Given the description of an element on the screen output the (x, y) to click on. 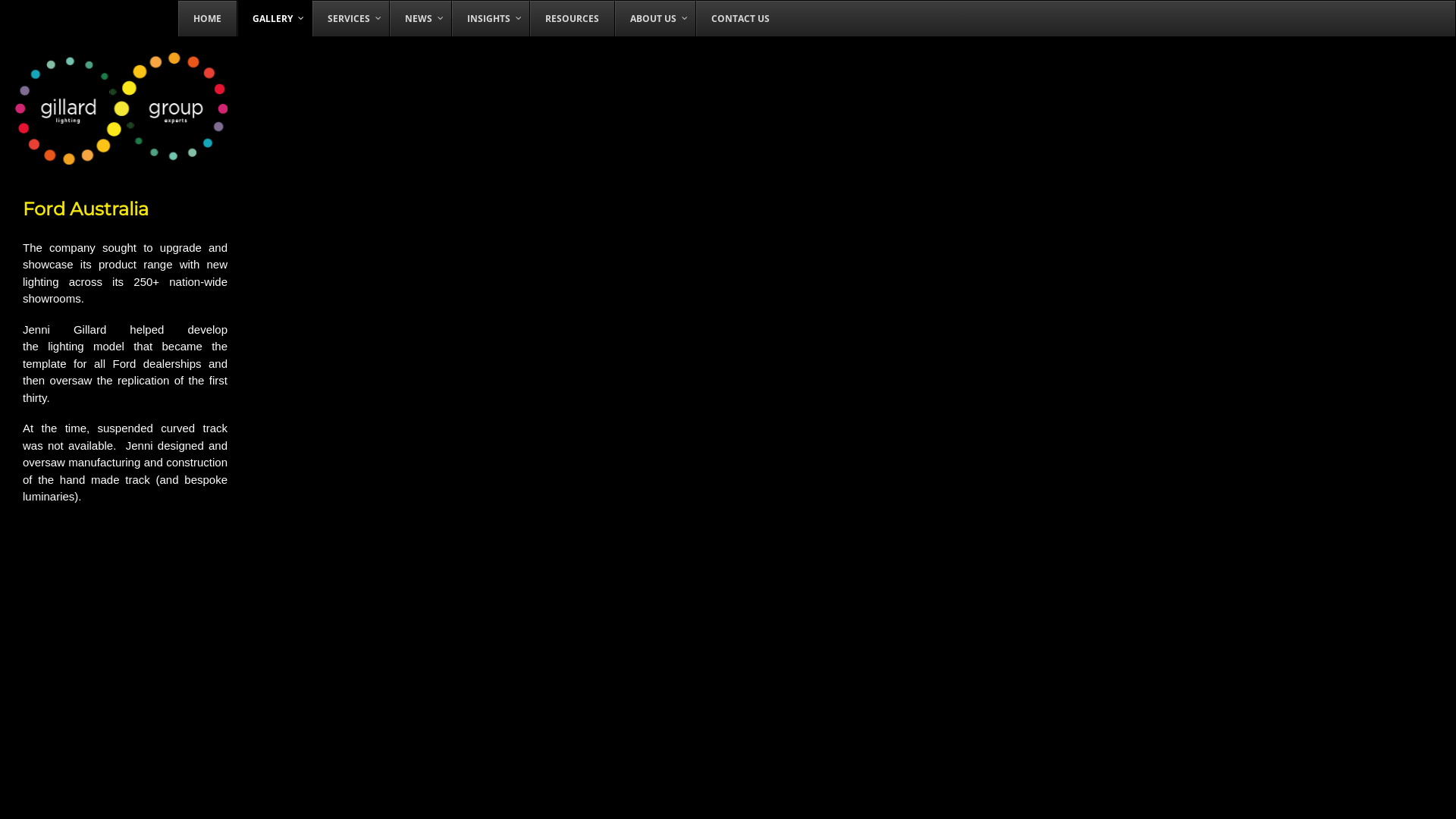
NEWS Element type: text (420, 18)
RESOURCES Element type: text (571, 18)
SERVICES Element type: text (350, 18)
HOME Element type: text (207, 18)
INSIGHTS Element type: text (490, 18)
Jenni Gillard Element type: hover (121, 156)
ABOUT US Element type: text (654, 18)
GALLERY Element type: text (273, 18)
CONTACT US Element type: text (739, 18)
